Given the description of an element on the screen output the (x, y) to click on. 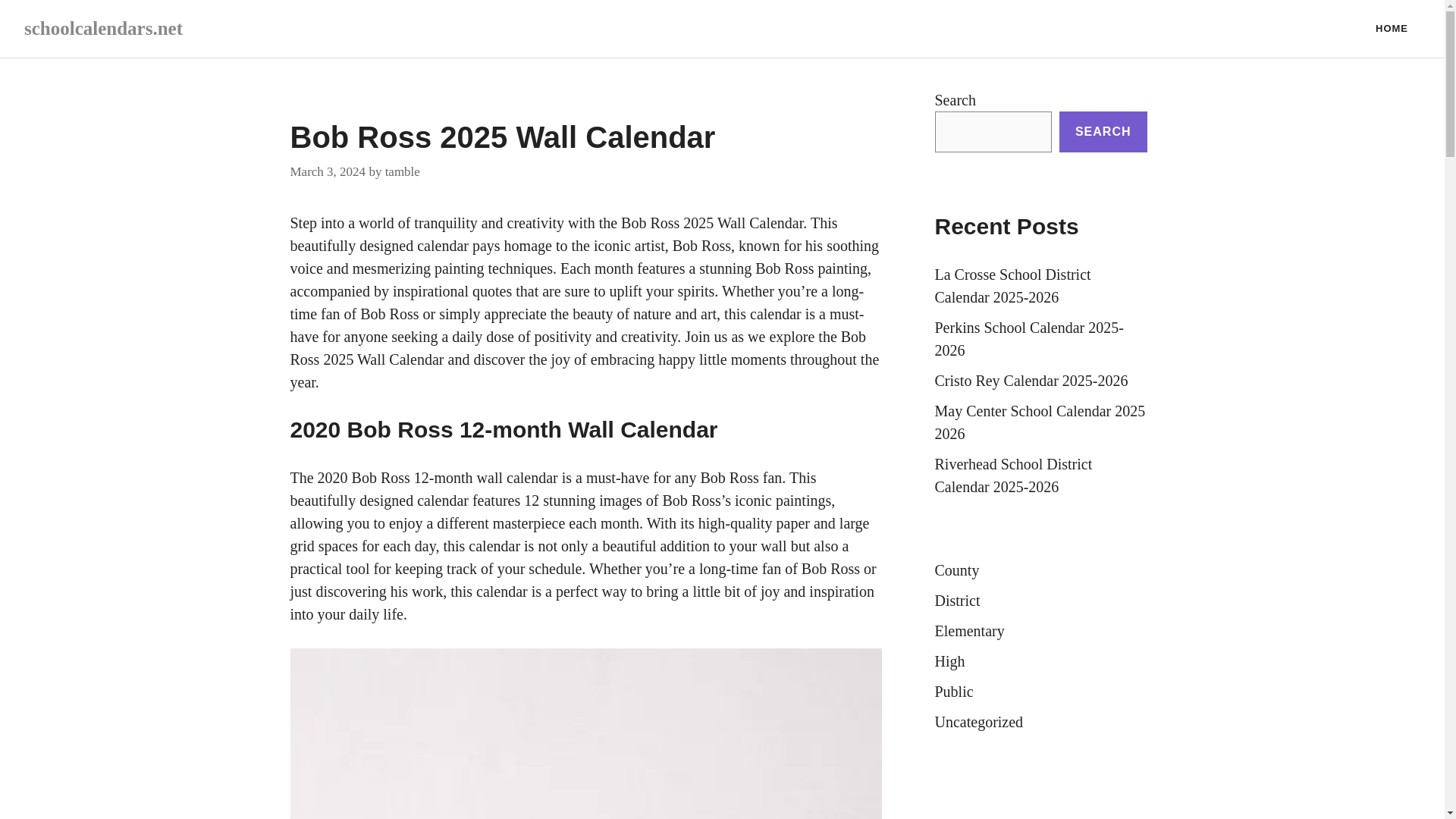
tamble (402, 170)
County (956, 569)
schoolcalendars.net (103, 28)
Public (953, 691)
SEARCH (1103, 131)
Perkins School Calendar 2025-2026 (1028, 338)
HOME (1391, 28)
High (948, 660)
Cristo Rey Calendar 2025-2026 (1030, 380)
Uncategorized (978, 721)
